Given the description of an element on the screen output the (x, y) to click on. 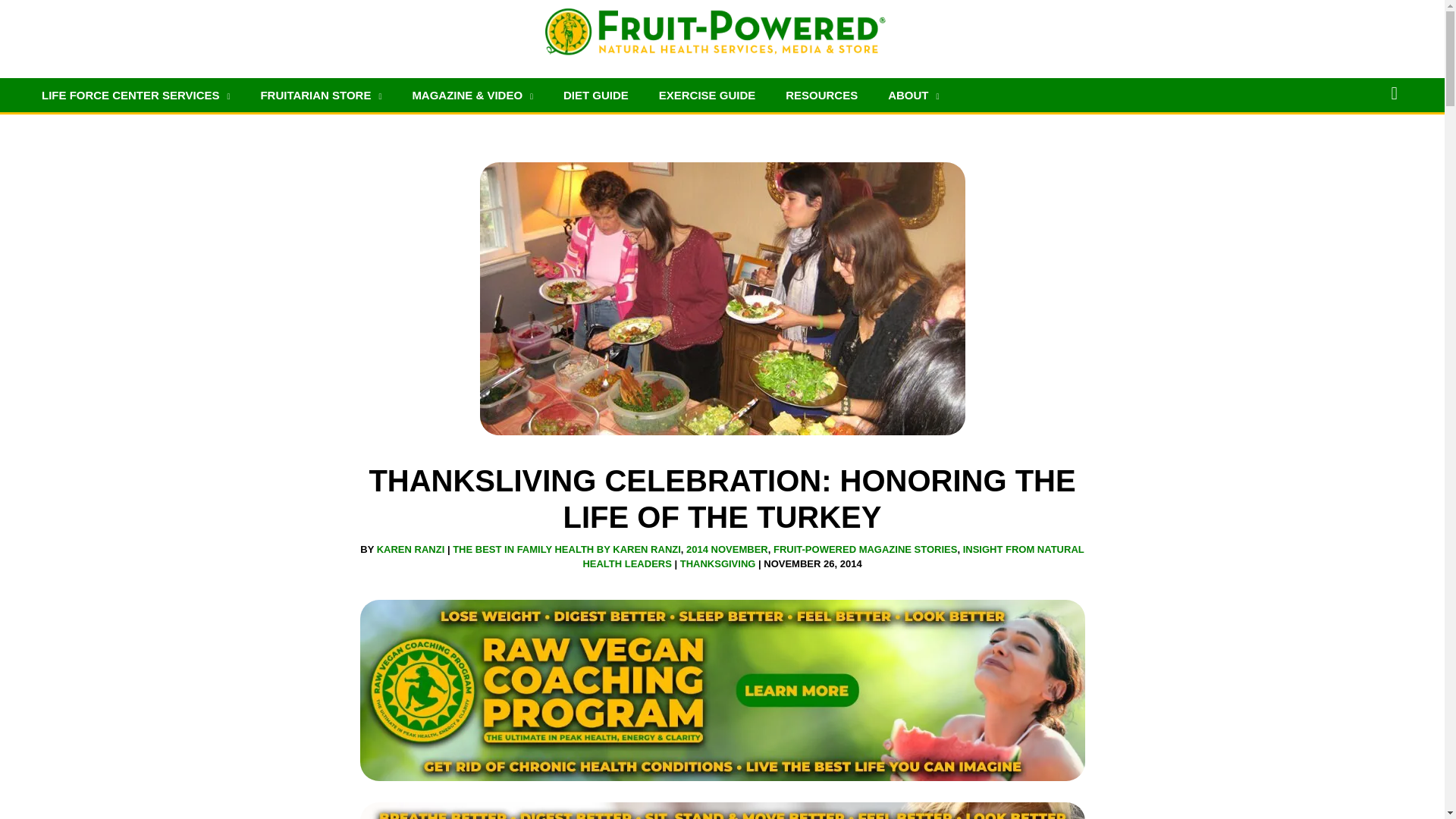
View all posts by Karen Ranzi (411, 549)
